Given the description of an element on the screen output the (x, y) to click on. 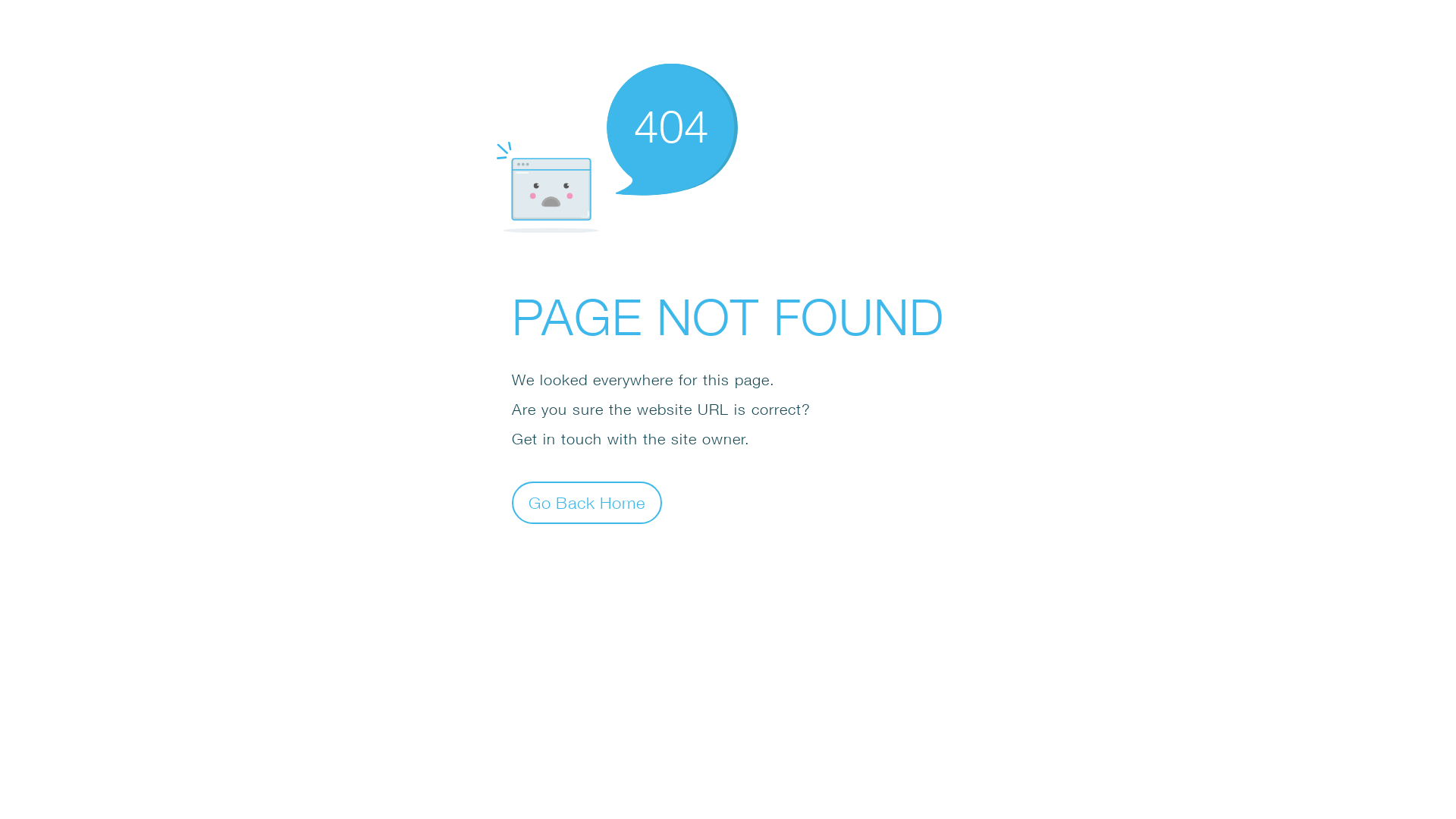
Go Back Home Element type: text (586, 502)
